Given the description of an element on the screen output the (x, y) to click on. 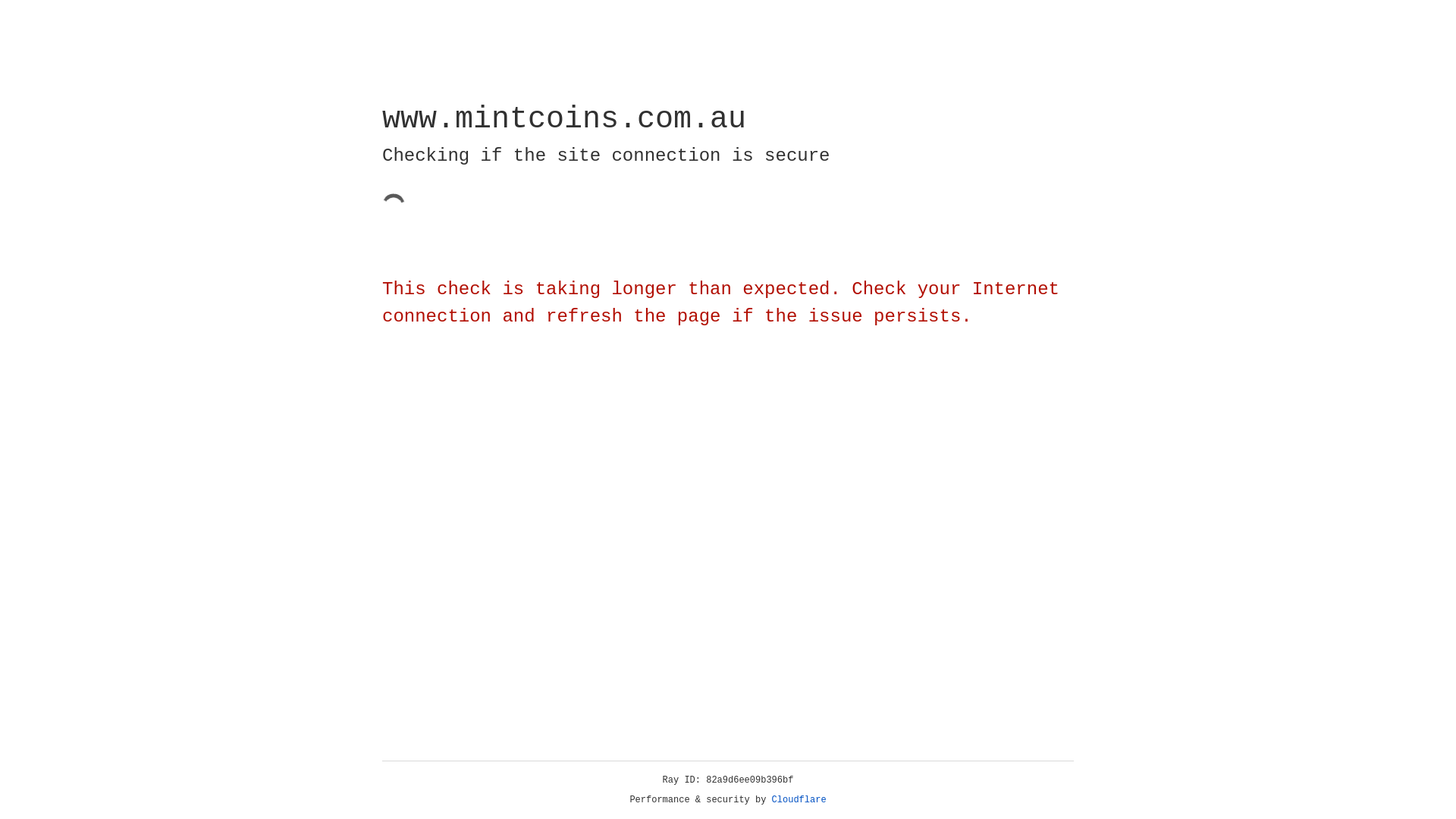
Cloudflare Element type: text (798, 799)
